Given the description of an element on the screen output the (x, y) to click on. 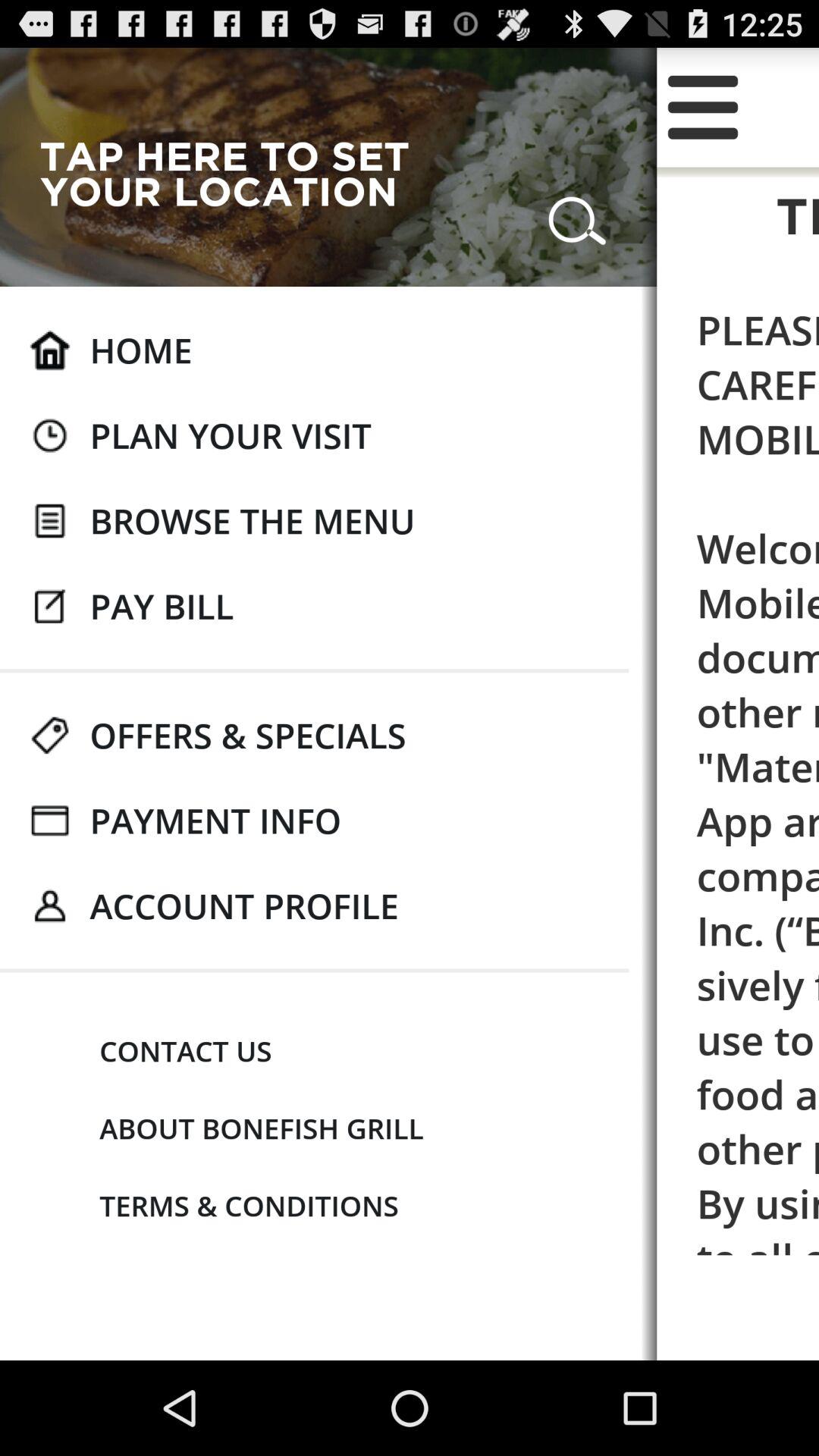
choose the icon next to tap here to (576, 214)
